Given the description of an element on the screen output the (x, y) to click on. 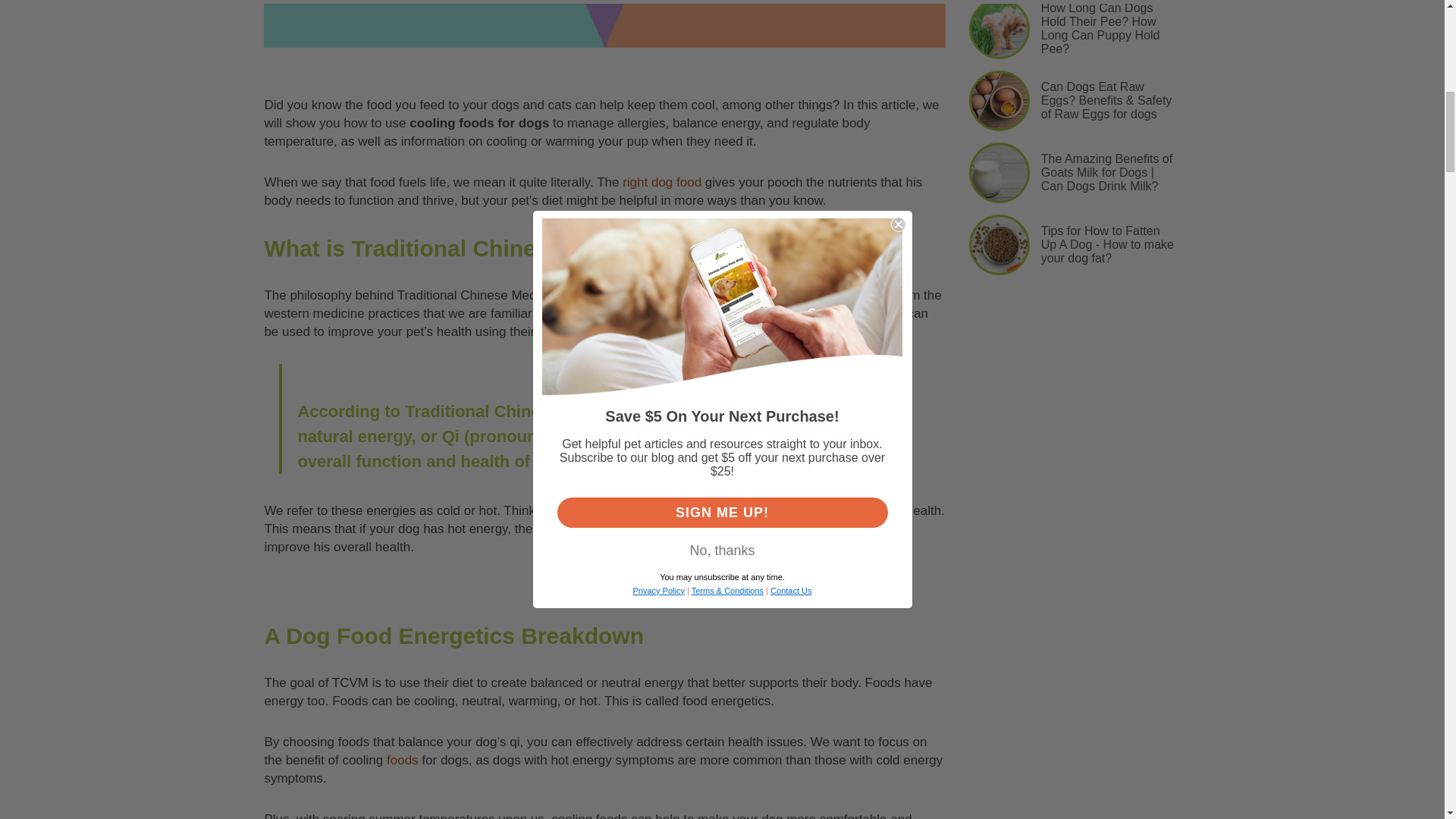
can-dogs-eat-raw-eggs (999, 100)
how long can my puppy hold his bladder (999, 29)
